Given the description of an element on the screen output the (x, y) to click on. 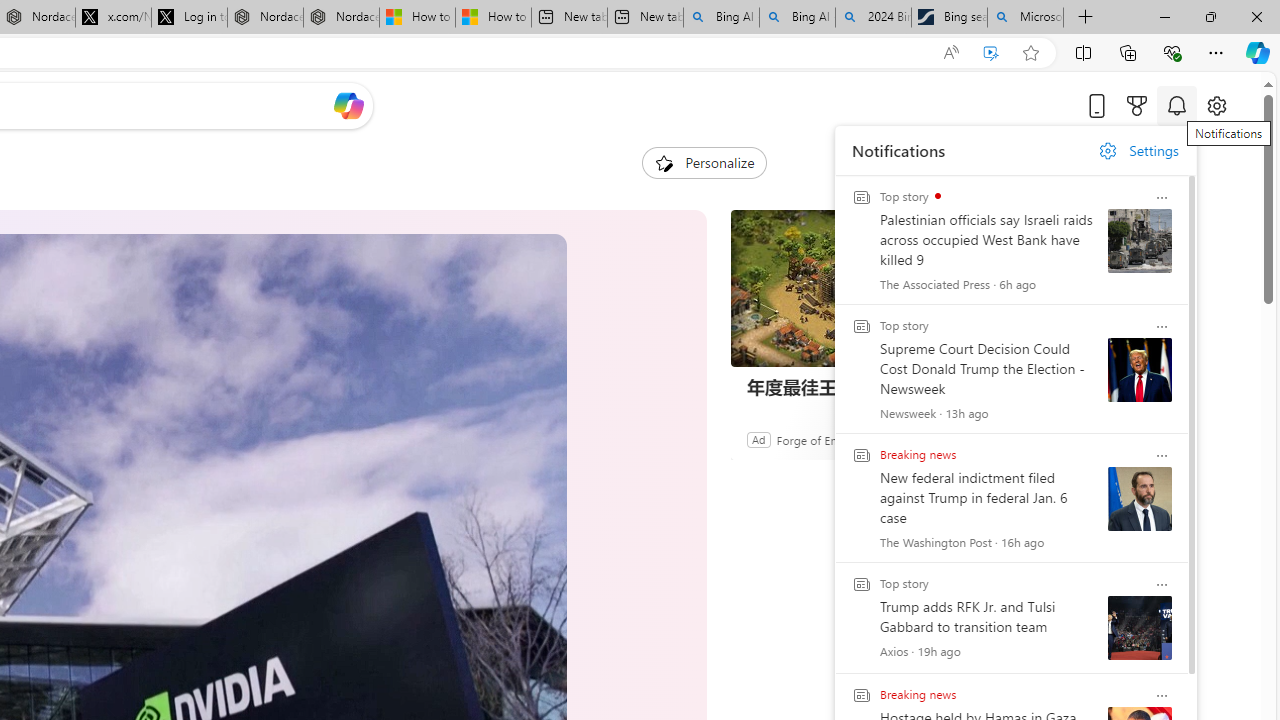
Enhance video (991, 53)
To get missing image descriptions, open the context menu. (664, 162)
Personalize (703, 162)
x.com/NordaceOfficial (113, 17)
